Given the description of an element on the screen output the (x, y) to click on. 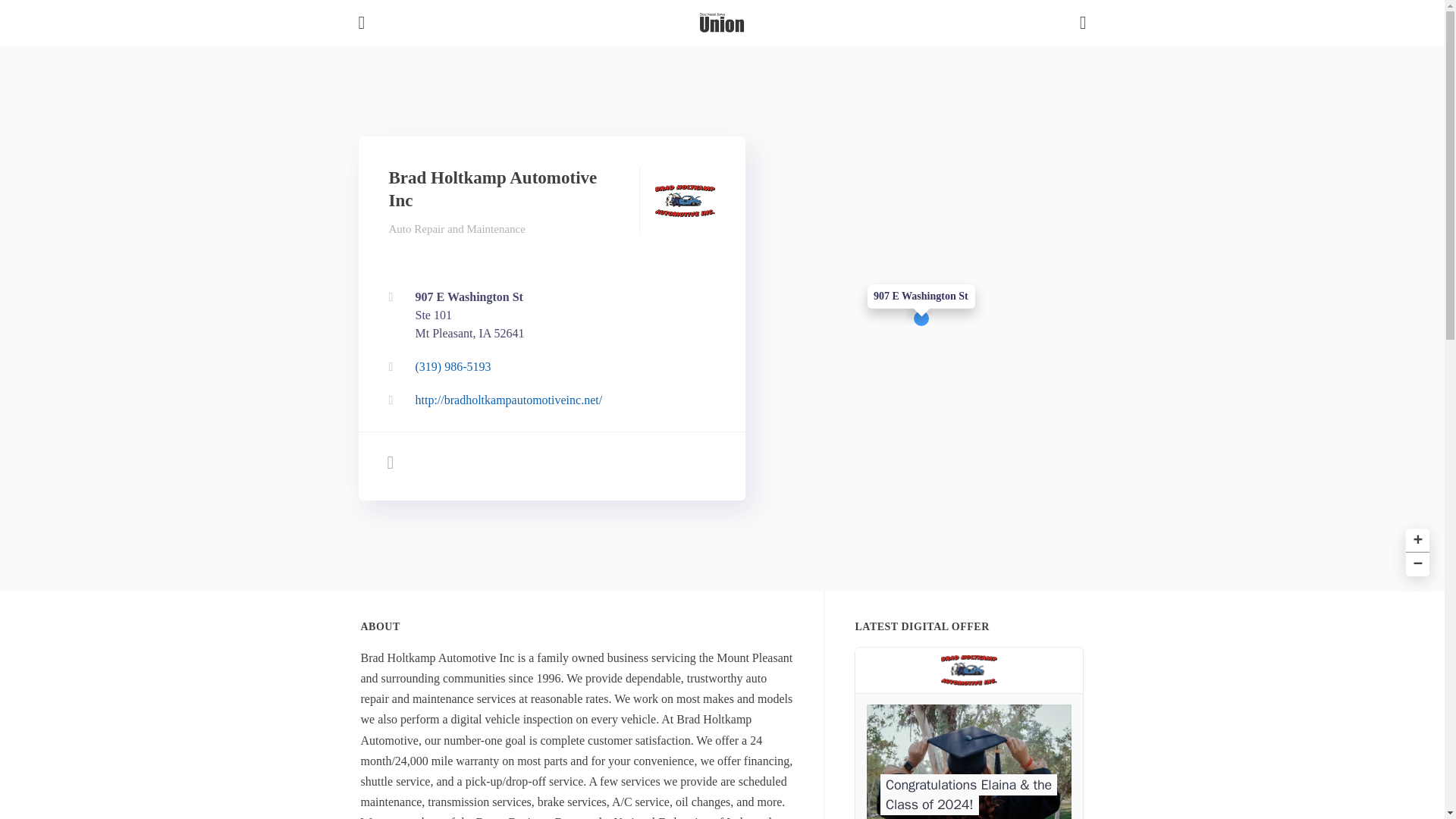
Call Phone Number (547, 315)
Zoom out (547, 367)
Zoom in (1415, 562)
Auto Repair and Maintenance (1415, 537)
Origami widget number: 1975159 (456, 228)
Open website in a new tab (969, 733)
Get directions (547, 400)
